Given the description of an element on the screen output the (x, y) to click on. 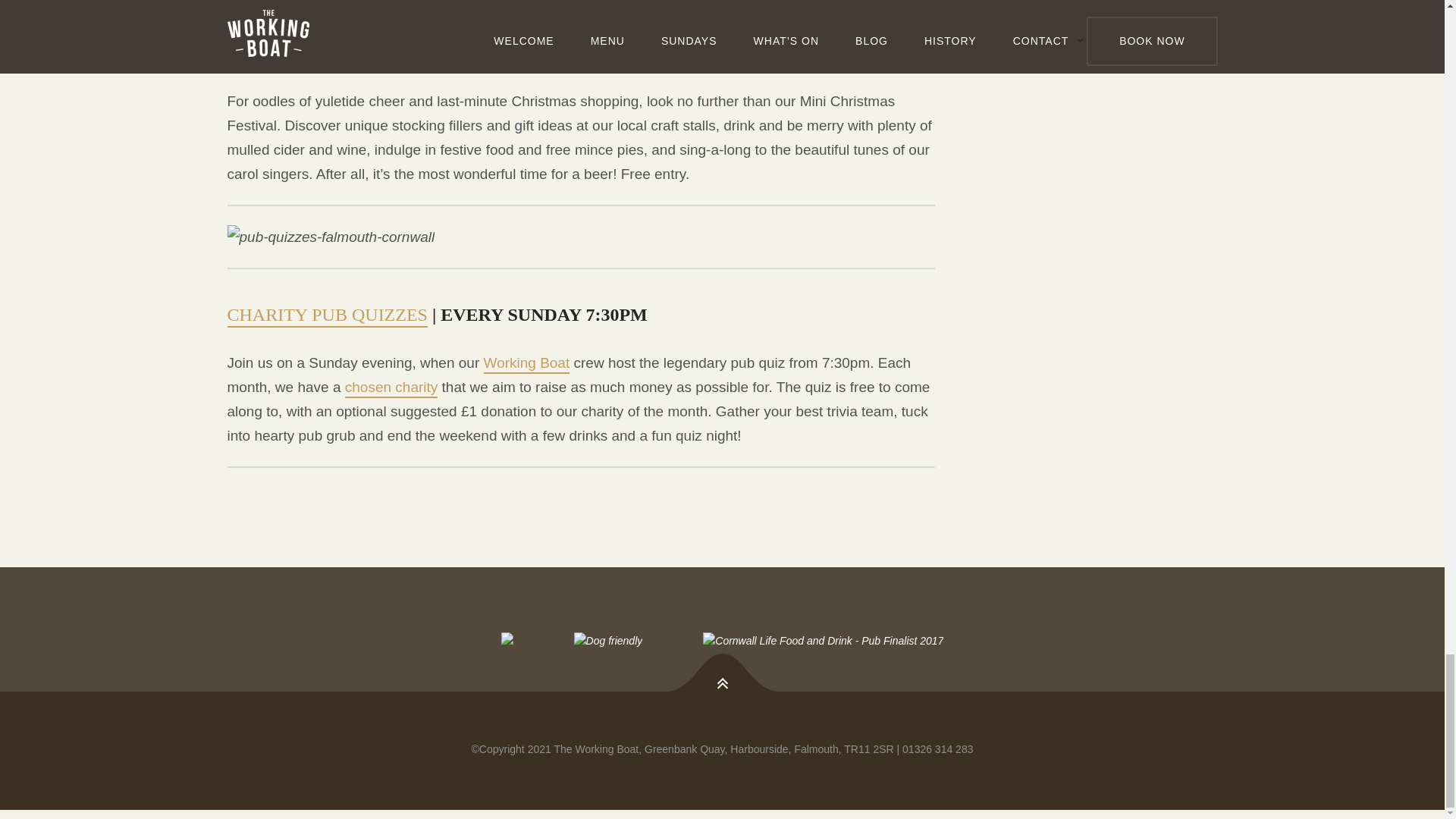
Working Boat (526, 363)
CHARITY PUB QUIZZES (327, 315)
chosen charity (391, 388)
